Given the description of an element on the screen output the (x, y) to click on. 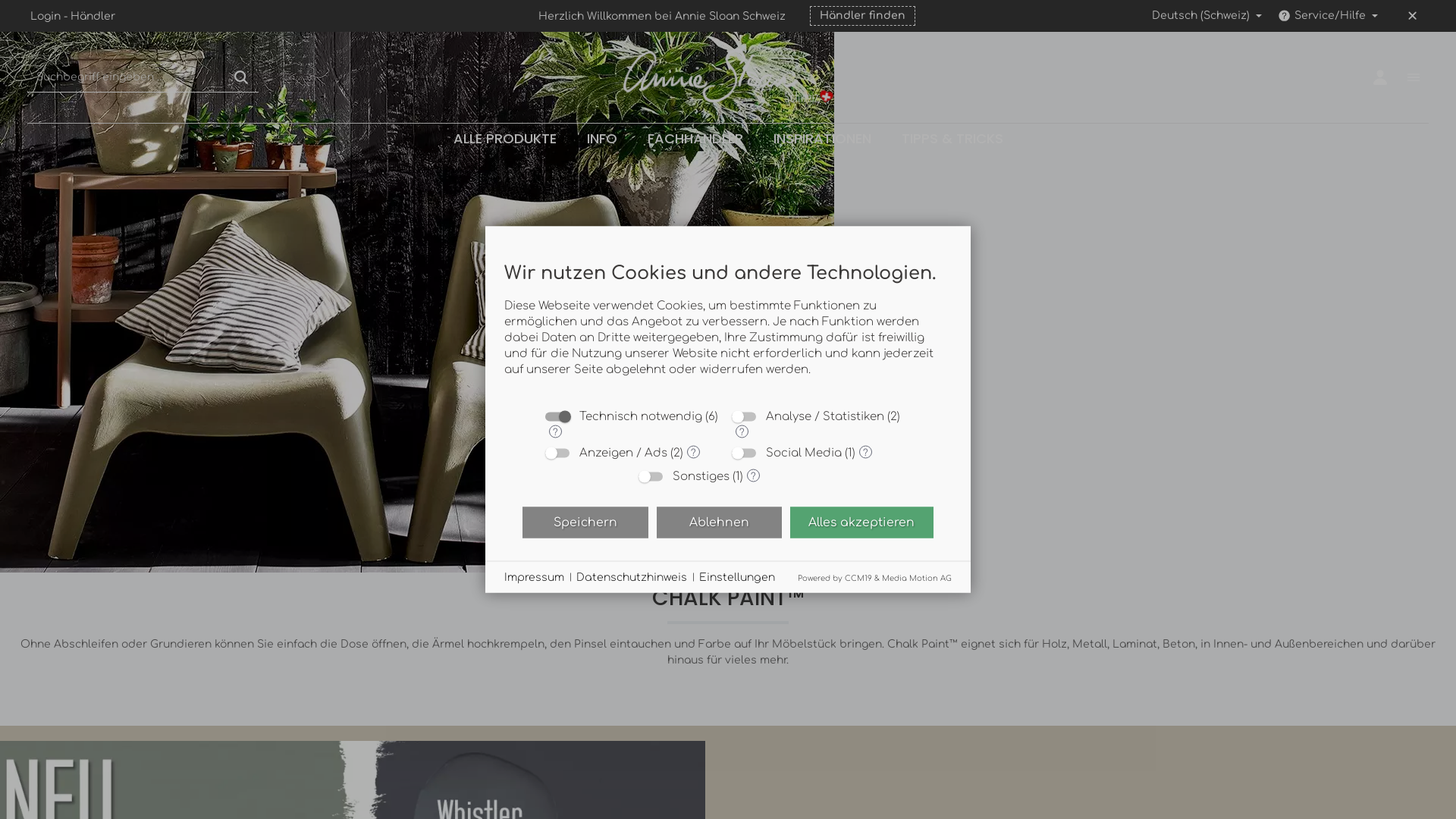
INSPIRATIONEN Element type: text (822, 138)
ALLE PRODUKTE Element type: text (647, 313)
Service/Hilfe Element type: text (1326, 15)
? Element type: text (693, 451)
? Element type: text (555, 430)
Einstellungen Element type: text (737, 576)
Impressum Element type: text (534, 576)
TIPPS & TRICKS Element type: text (951, 138)
? Element type: text (752, 474)
ALLE PRODUKTE Element type: text (504, 138)
Athenian-Black-and-Olive-with-Lacquer-Outdoor Element type: hover (417, 286)
Alles akzeptieren Element type: text (861, 521)
INFO Element type: text (601, 138)
Zur Startseite gehen Element type: hover (727, 76)
Ablehnen Element type: text (718, 521)
Login Element type: text (45, 15)
? Element type: text (865, 451)
Datenschutzhinweis Element type: text (631, 576)
? Element type: text (741, 430)
Speichern Element type: text (584, 521)
Powered by CCM19 & Media Motion AG Element type: text (874, 577)
Deutsch (Schweiz) Element type: text (1204, 15)
